Given the description of an element on the screen output the (x, y) to click on. 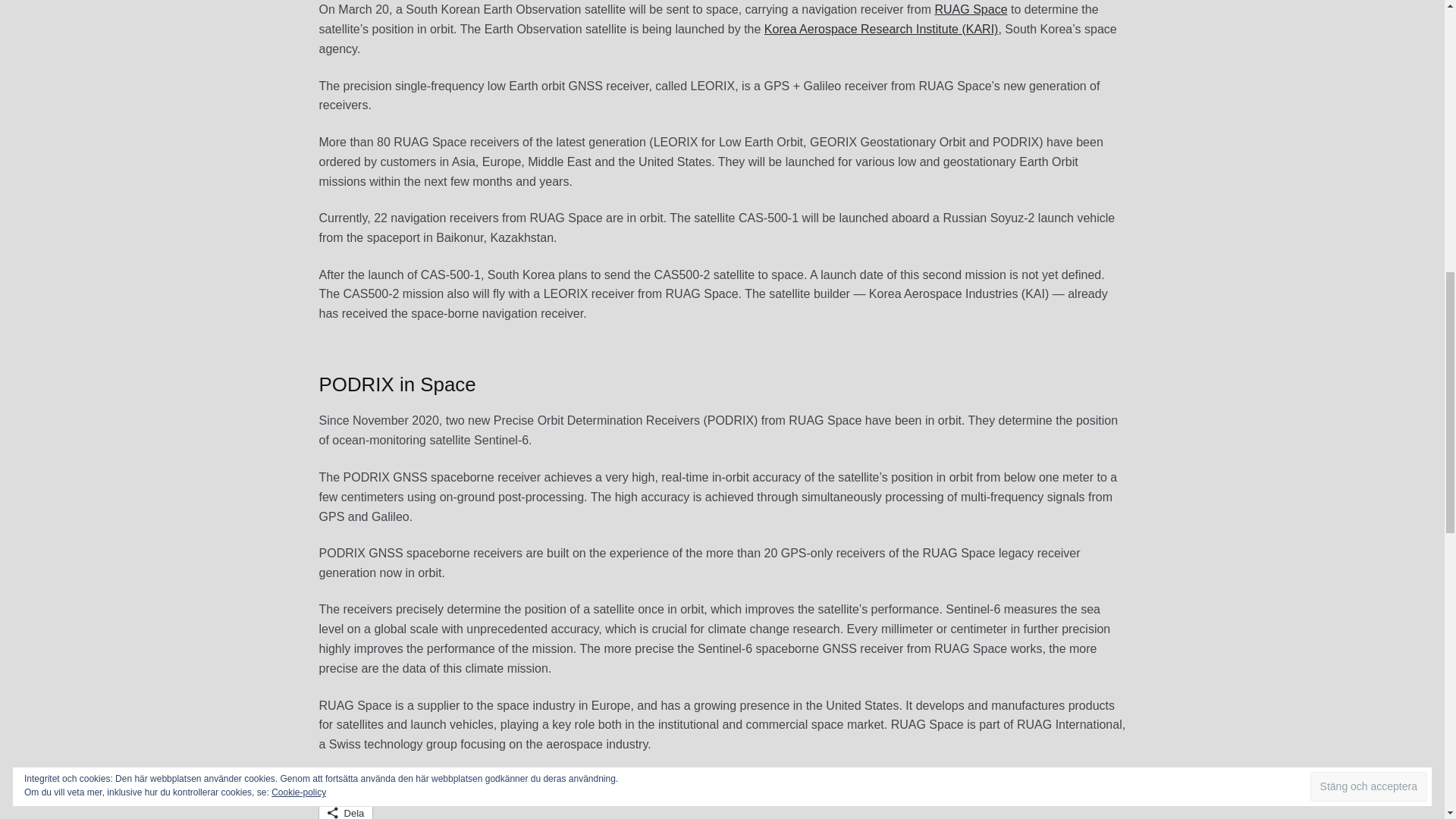
Dela (345, 810)
RUAG Space (970, 9)
